Given the description of an element on the screen output the (x, y) to click on. 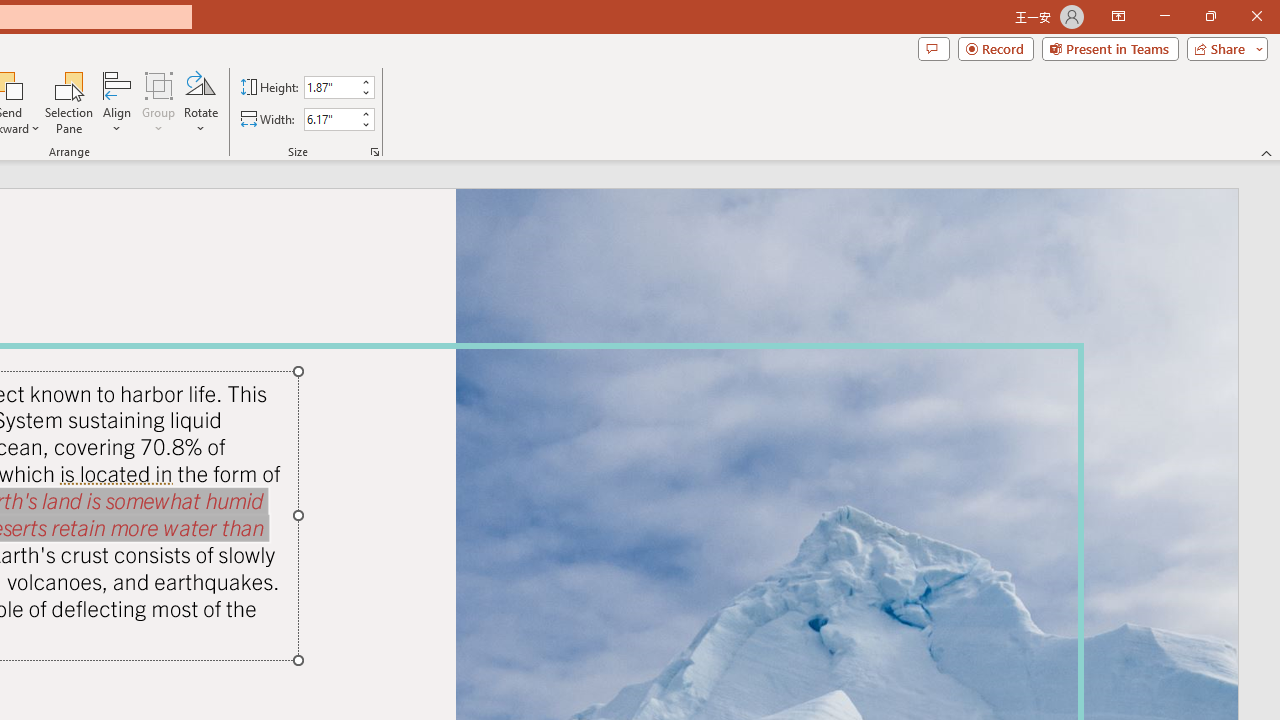
Align (117, 102)
Close (1256, 16)
Selection Pane... (69, 102)
Shape Height (330, 87)
Collapse the Ribbon (1267, 152)
Shape Width (330, 119)
Ribbon Display Options (1118, 16)
Minimize (1164, 16)
Size and Position... (374, 151)
Group (159, 102)
Restore Down (1210, 16)
Share (1223, 48)
Record (995, 48)
Less (365, 124)
